Given the description of an element on the screen output the (x, y) to click on. 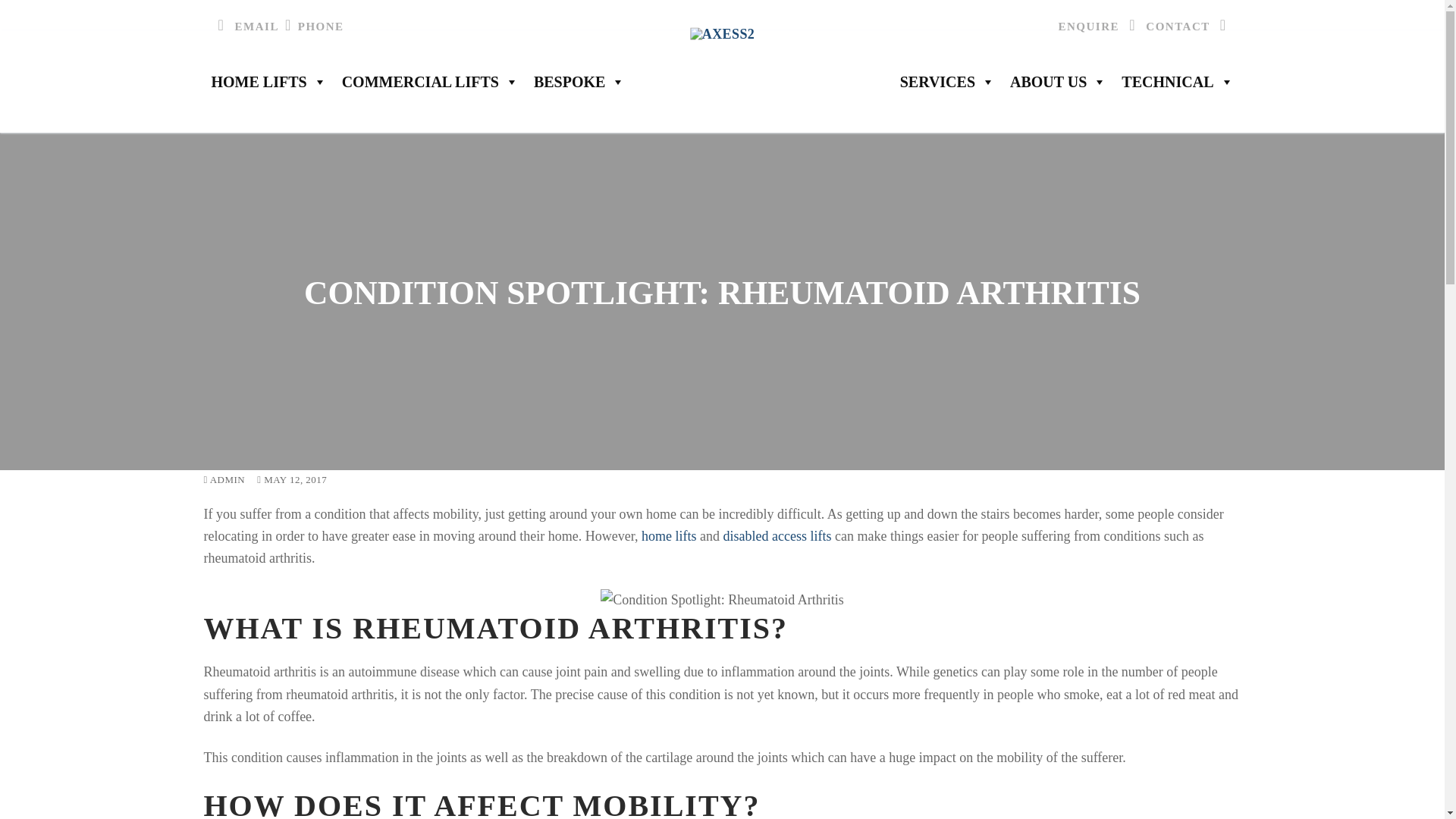
HOME LIFTS (268, 81)
EMAIL (245, 25)
TECHNICAL (1176, 81)
ABOUT US (1058, 81)
CONTACT (1188, 25)
COMMERCIAL LIFTS (429, 81)
ENQUIRE (1100, 25)
BESPOKE (578, 81)
PHONE (311, 25)
SERVICES (947, 81)
Condition Spotlight: Rheumatoid Arthritis (721, 599)
